Given the description of an element on the screen output the (x, y) to click on. 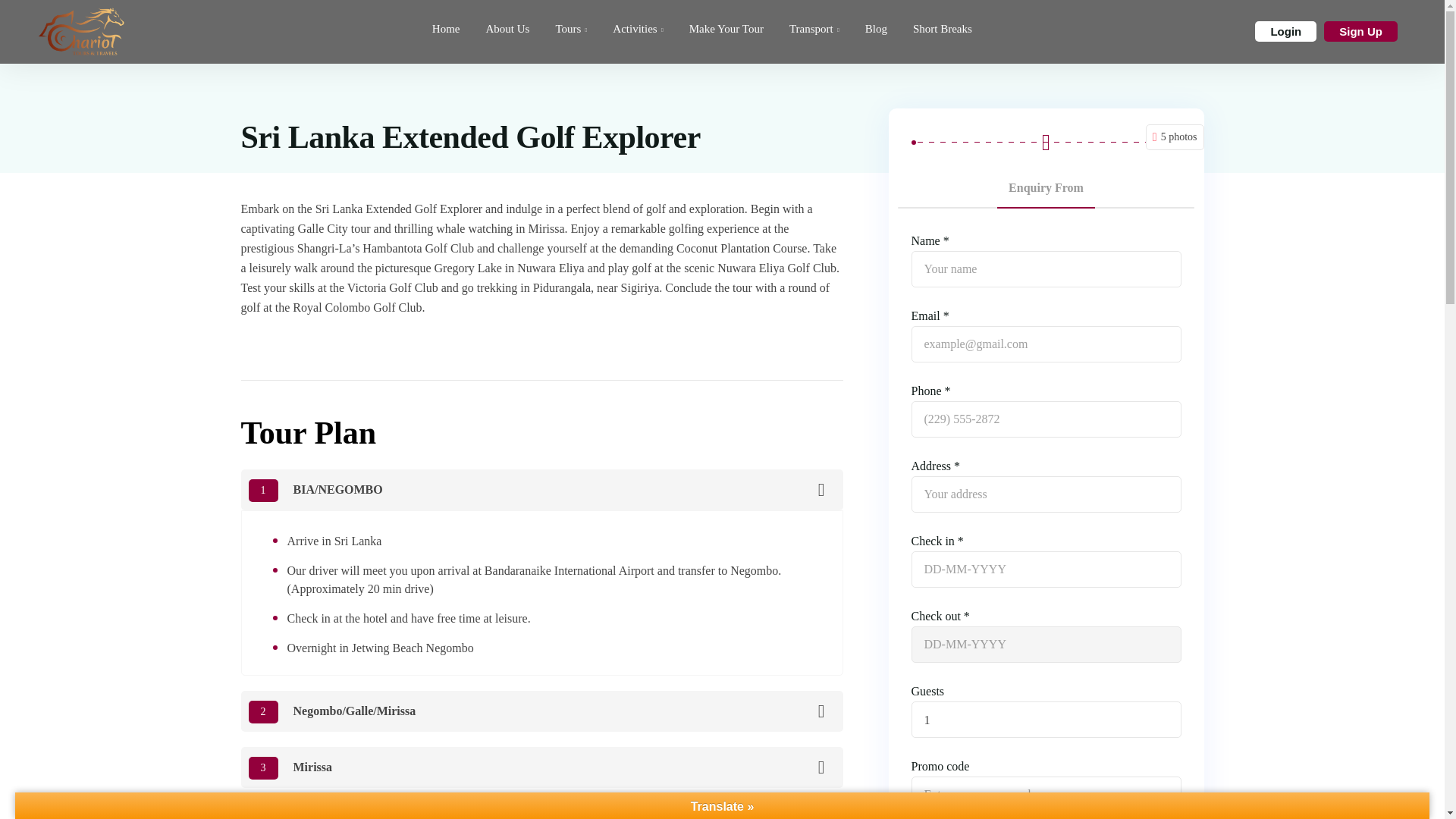
Short Breaks (936, 28)
Transport (813, 28)
Sign Up (1360, 31)
Login (1285, 31)
Tours (570, 28)
Activities (637, 28)
Home (445, 28)
About Us (507, 28)
Blog (875, 28)
Make Your Tour (726, 28)
